Given the description of an element on the screen output the (x, y) to click on. 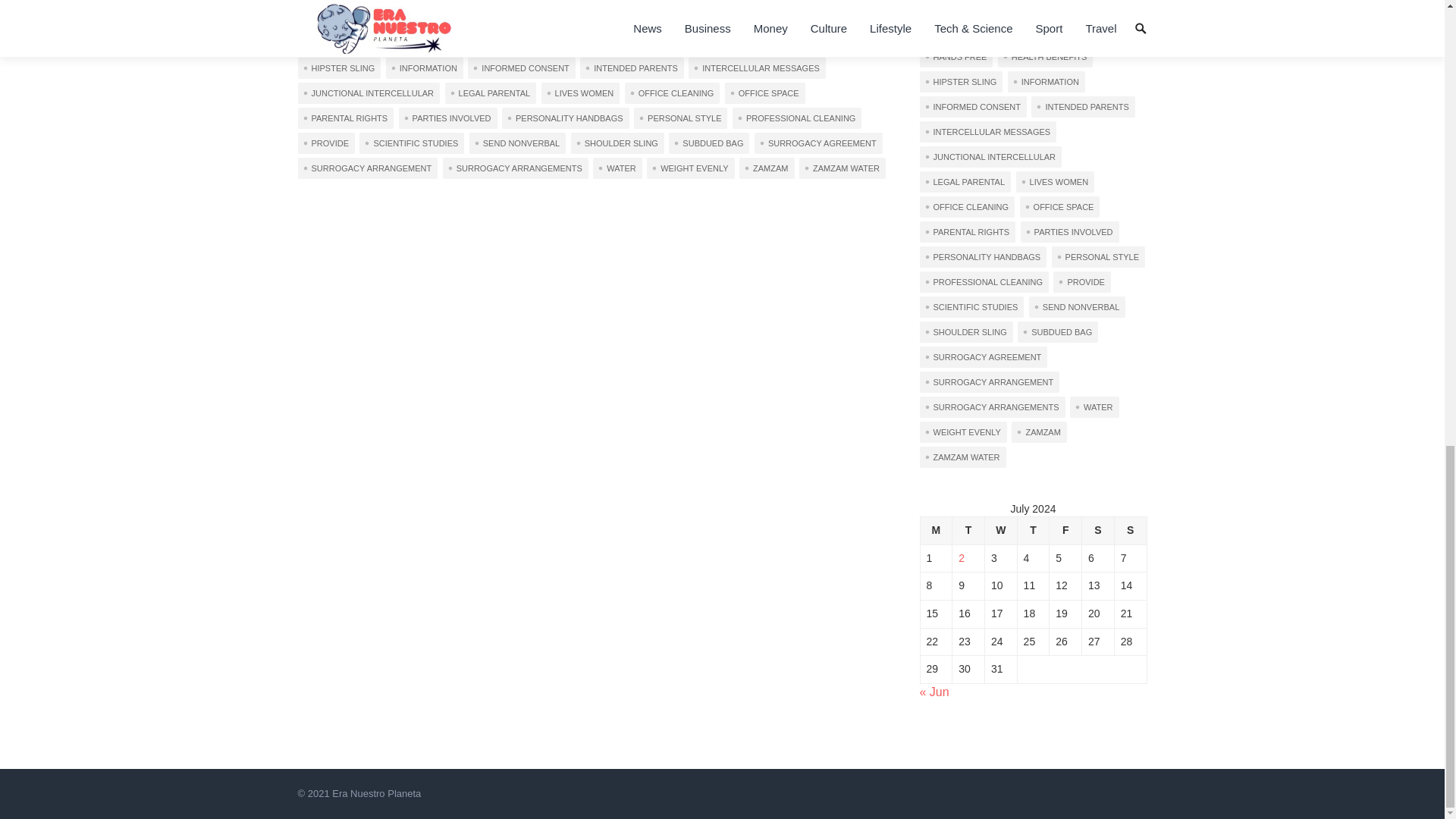
Sunday (1130, 530)
Monday (936, 530)
Thursday (1032, 530)
Tuesday (968, 530)
Saturday (1098, 530)
Wednesday (1000, 530)
Friday (1065, 530)
